Given the description of an element on the screen output the (x, y) to click on. 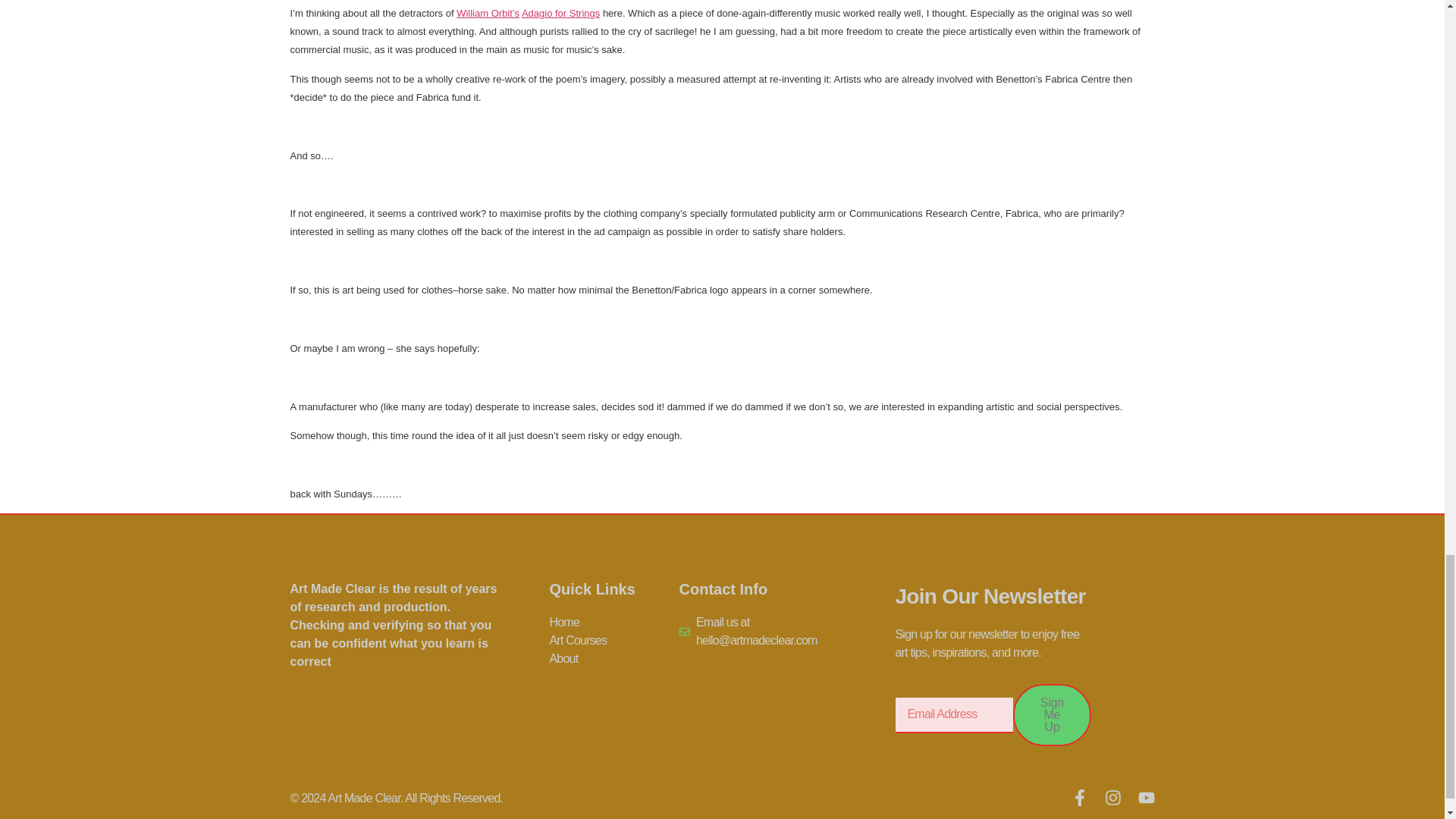
Sign Me Up (1051, 714)
Art Courses (613, 640)
Adagio for Strings (560, 12)
Home (613, 622)
About (613, 659)
